Given the description of an element on the screen output the (x, y) to click on. 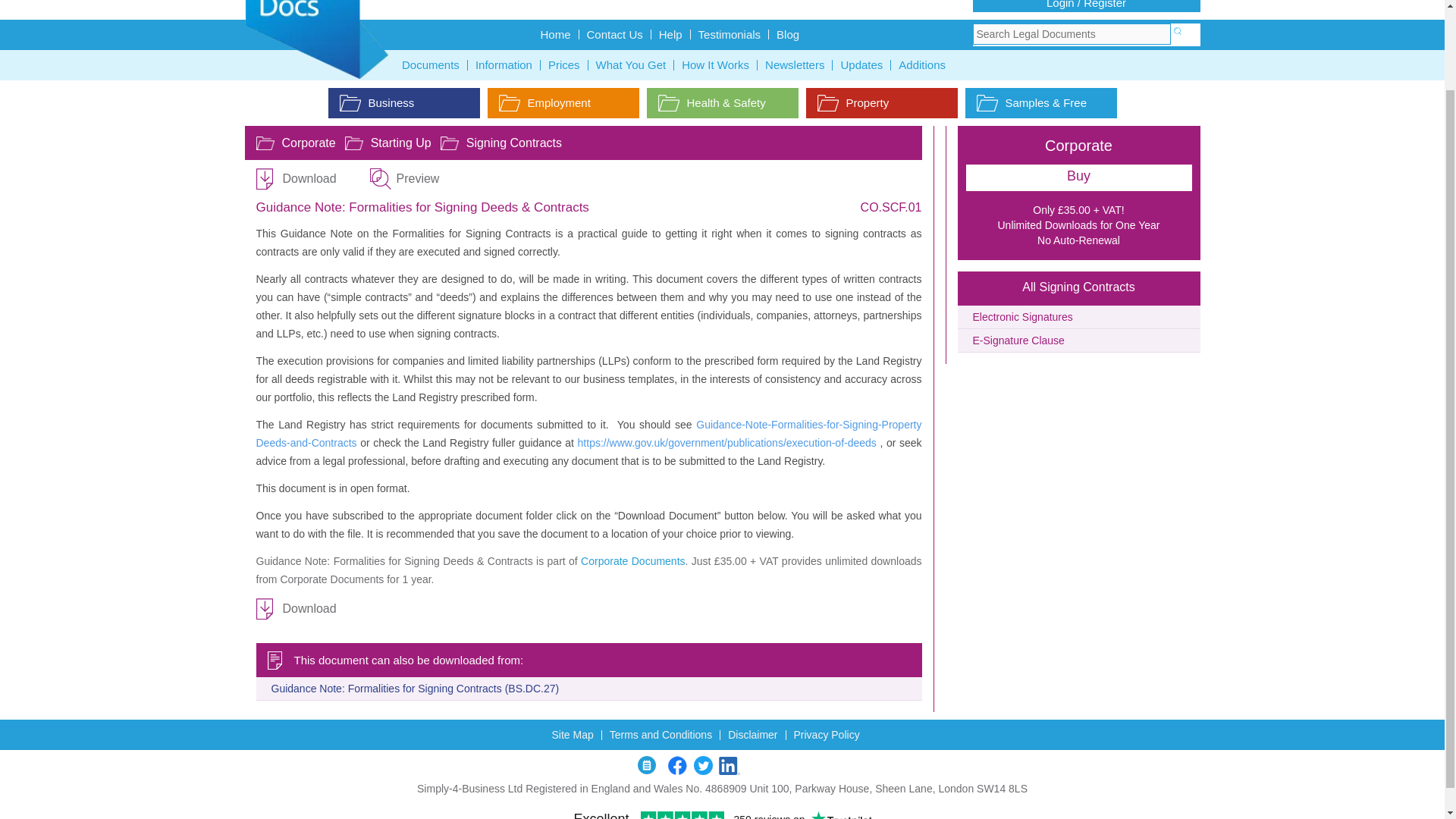
Help (670, 34)
Contact Us (614, 34)
Home (555, 34)
Testimonials (730, 34)
Blog (787, 34)
Documents (430, 64)
